Given the description of an element on the screen output the (x, y) to click on. 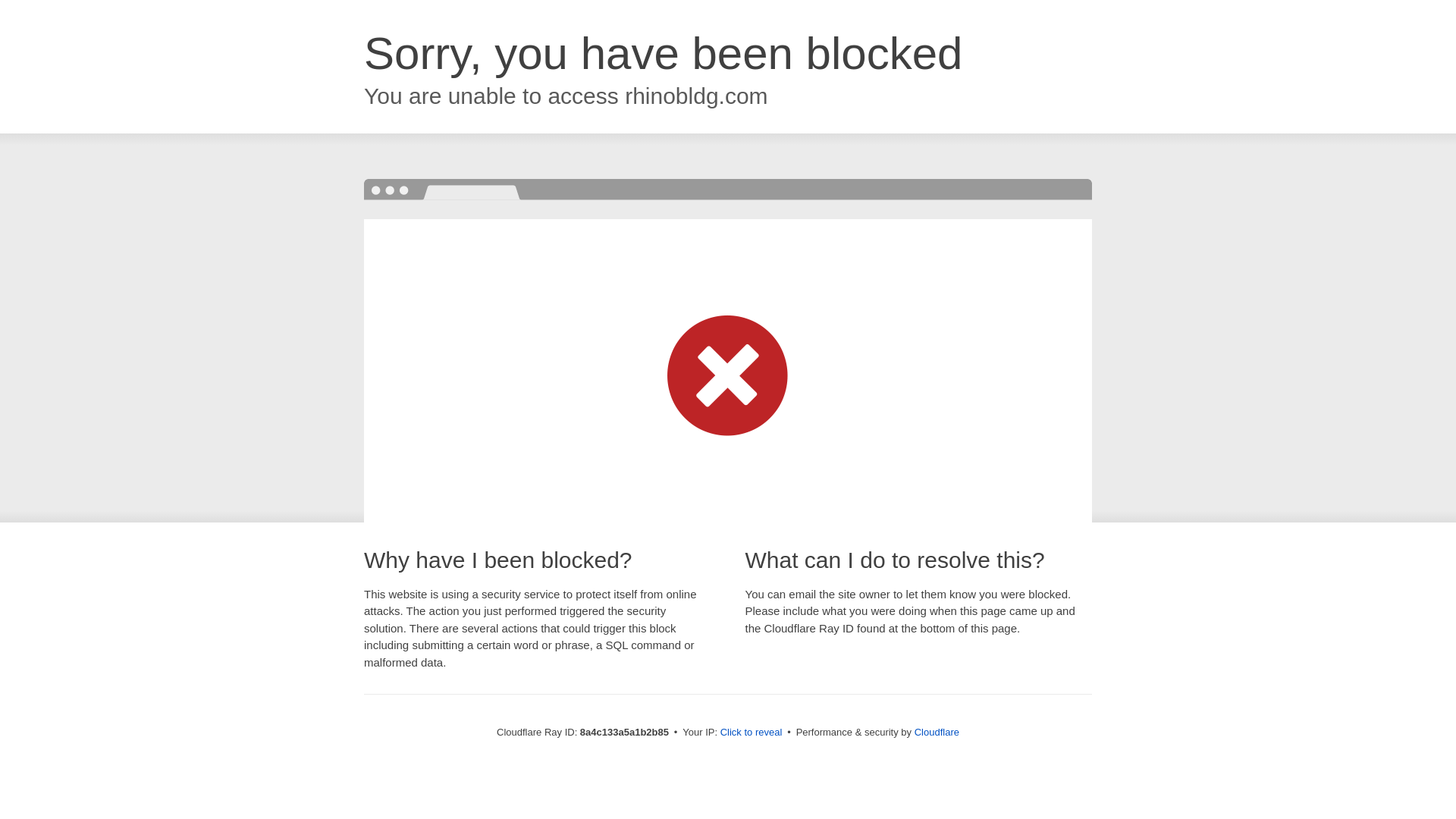
Click to reveal (751, 732)
Cloudflare (936, 731)
